Given the description of an element on the screen output the (x, y) to click on. 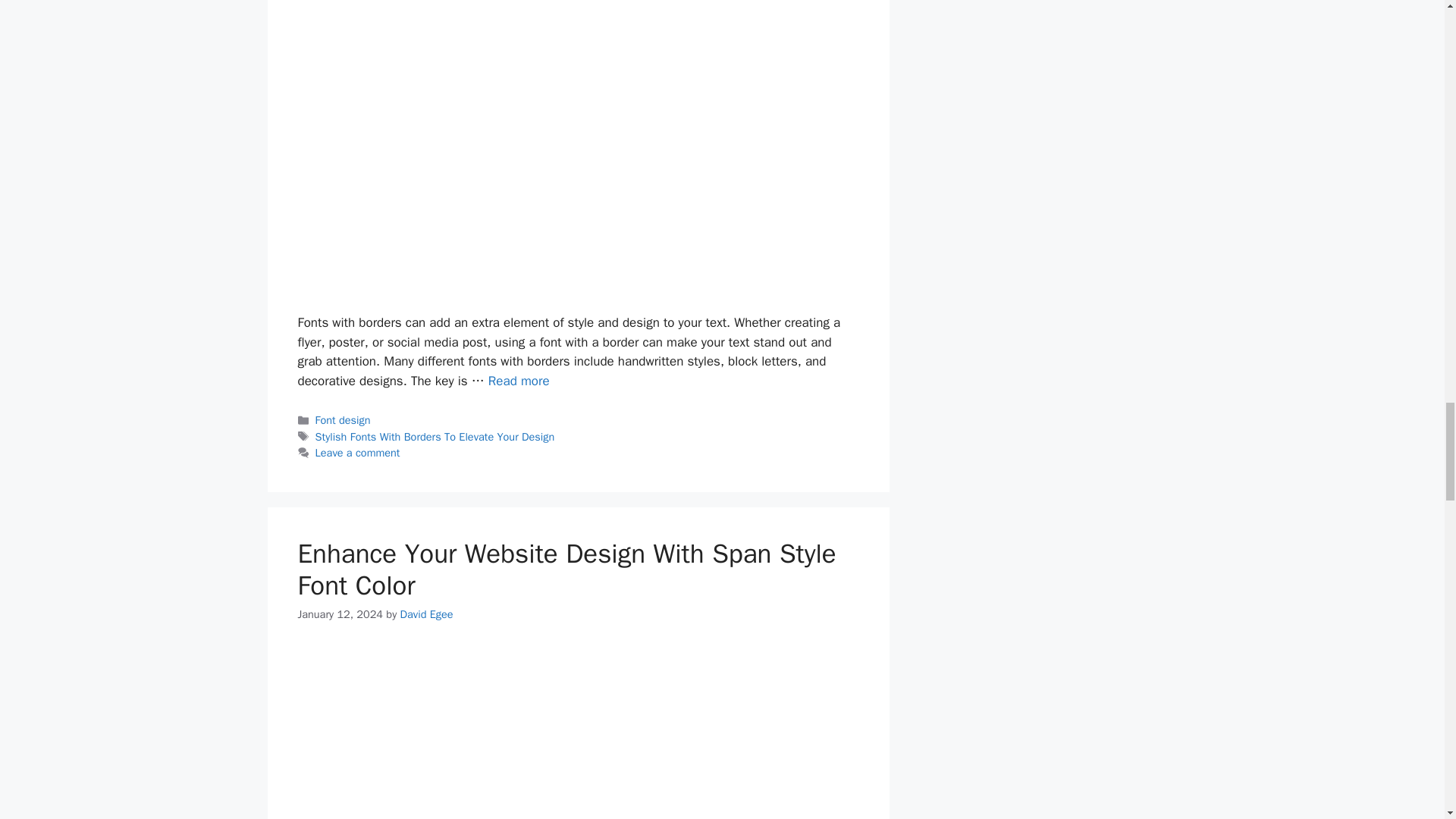
View all posts by David Egee (426, 613)
